Given the description of an element on the screen output the (x, y) to click on. 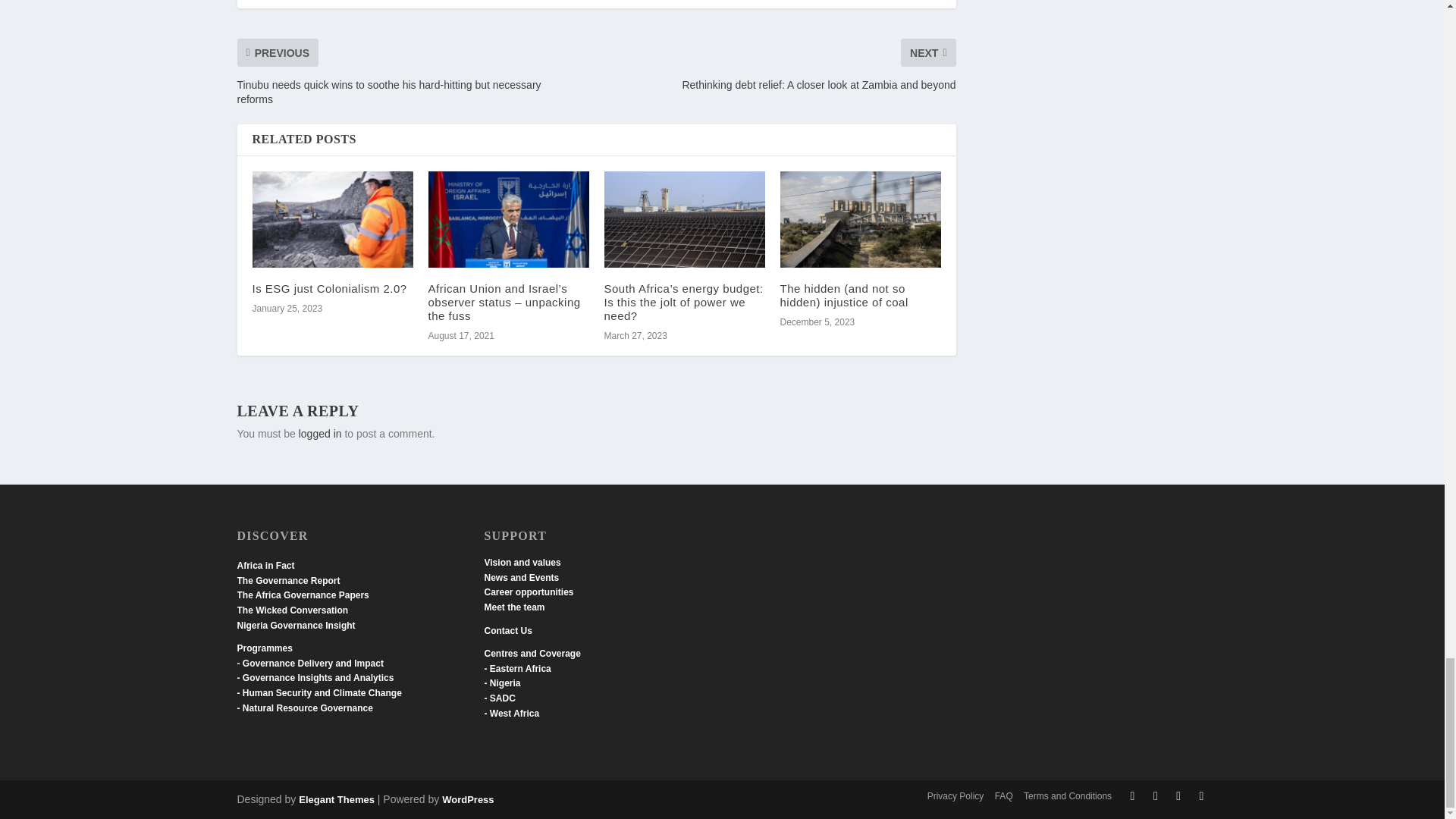
Is ESG just Colonialism 2.0? (331, 219)
